Given the description of an element on the screen output the (x, y) to click on. 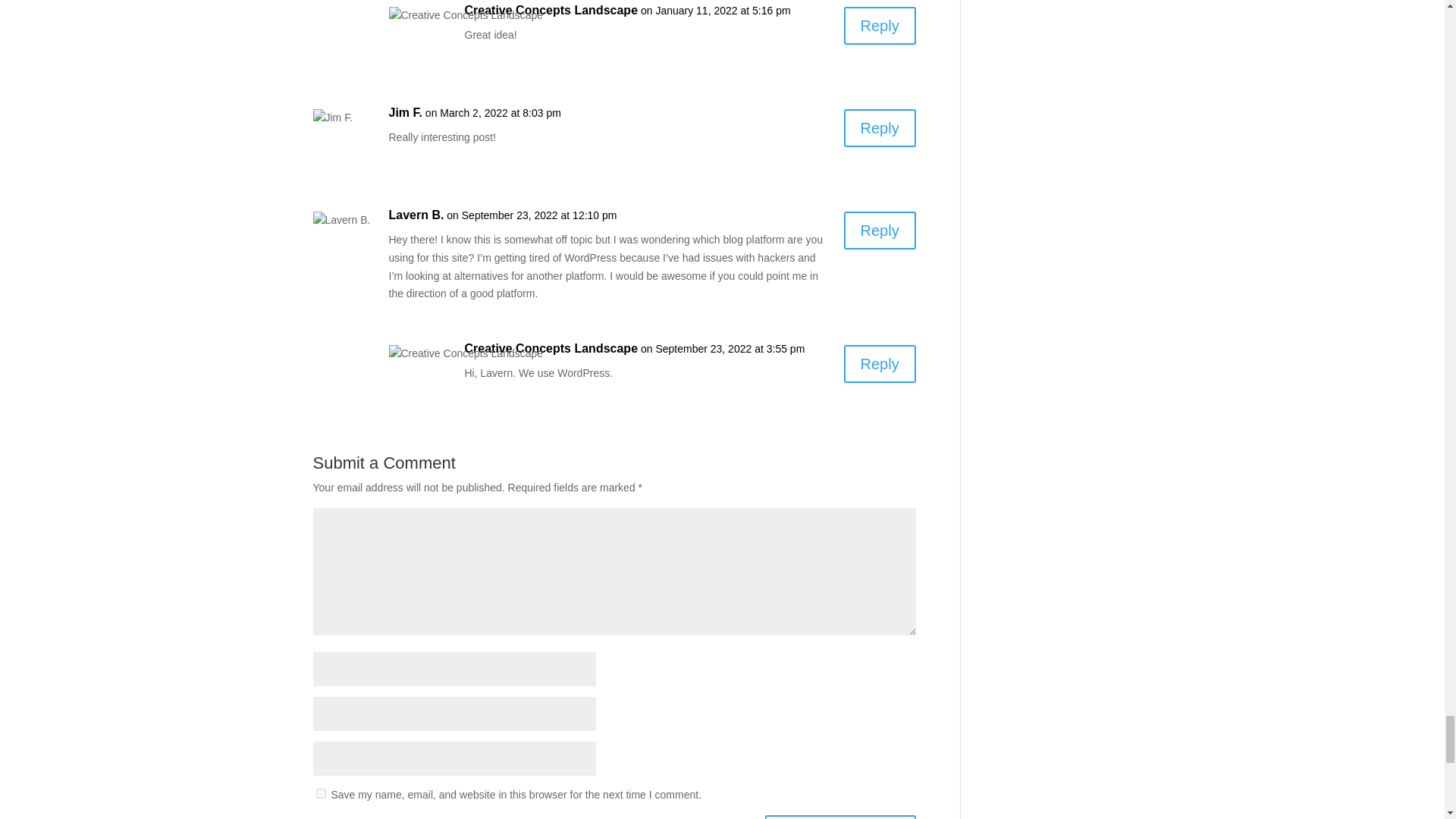
Reply (879, 127)
Submit Comment (840, 816)
Reply (879, 25)
Reply (879, 230)
yes (319, 793)
Reply (879, 363)
Submit Comment (840, 816)
